Given the description of an element on the screen output the (x, y) to click on. 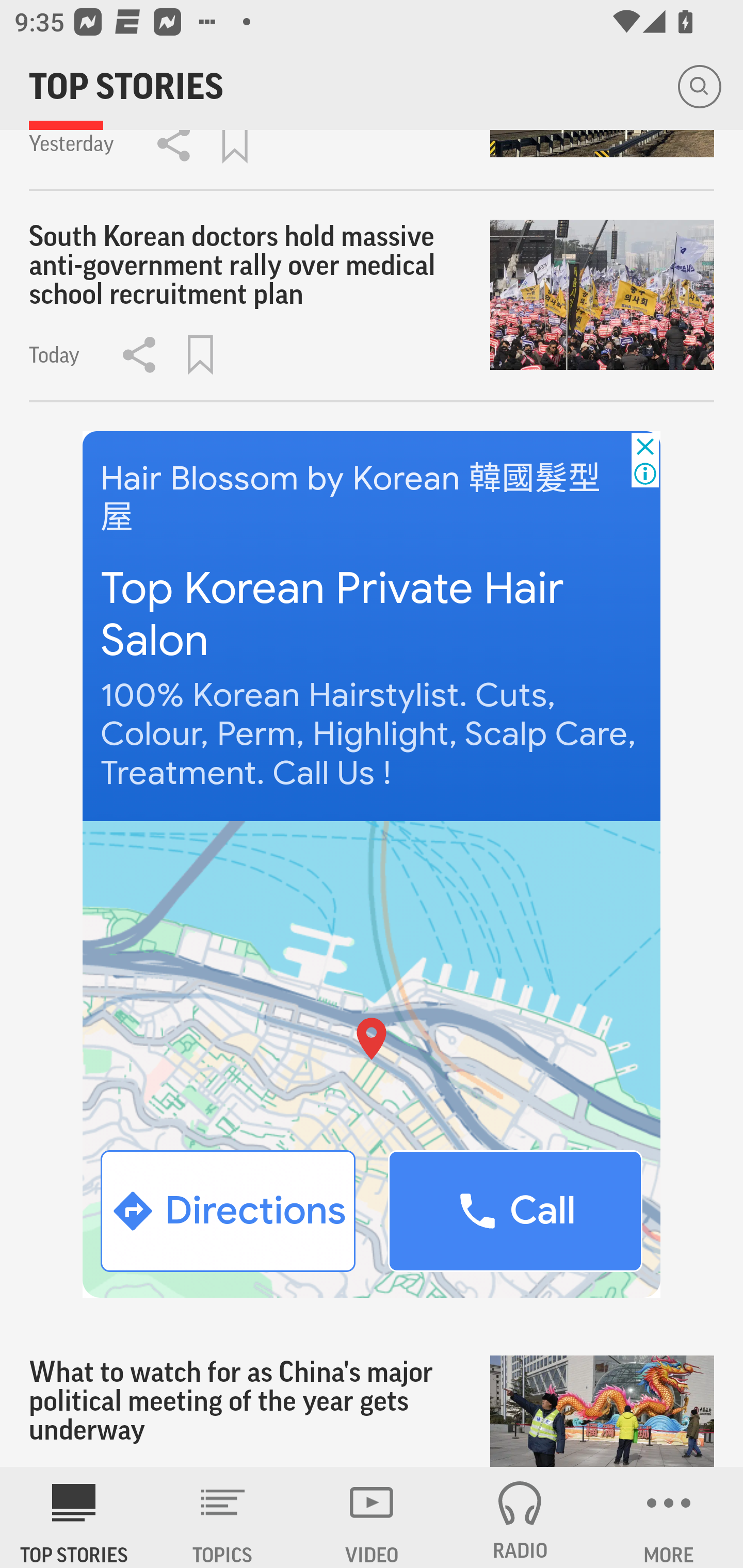
Directions Call Directions Call (371, 1059)
AP News TOP STORIES (74, 1517)
TOPICS (222, 1517)
VIDEO (371, 1517)
RADIO (519, 1517)
MORE (668, 1517)
